Given the description of an element on the screen output the (x, y) to click on. 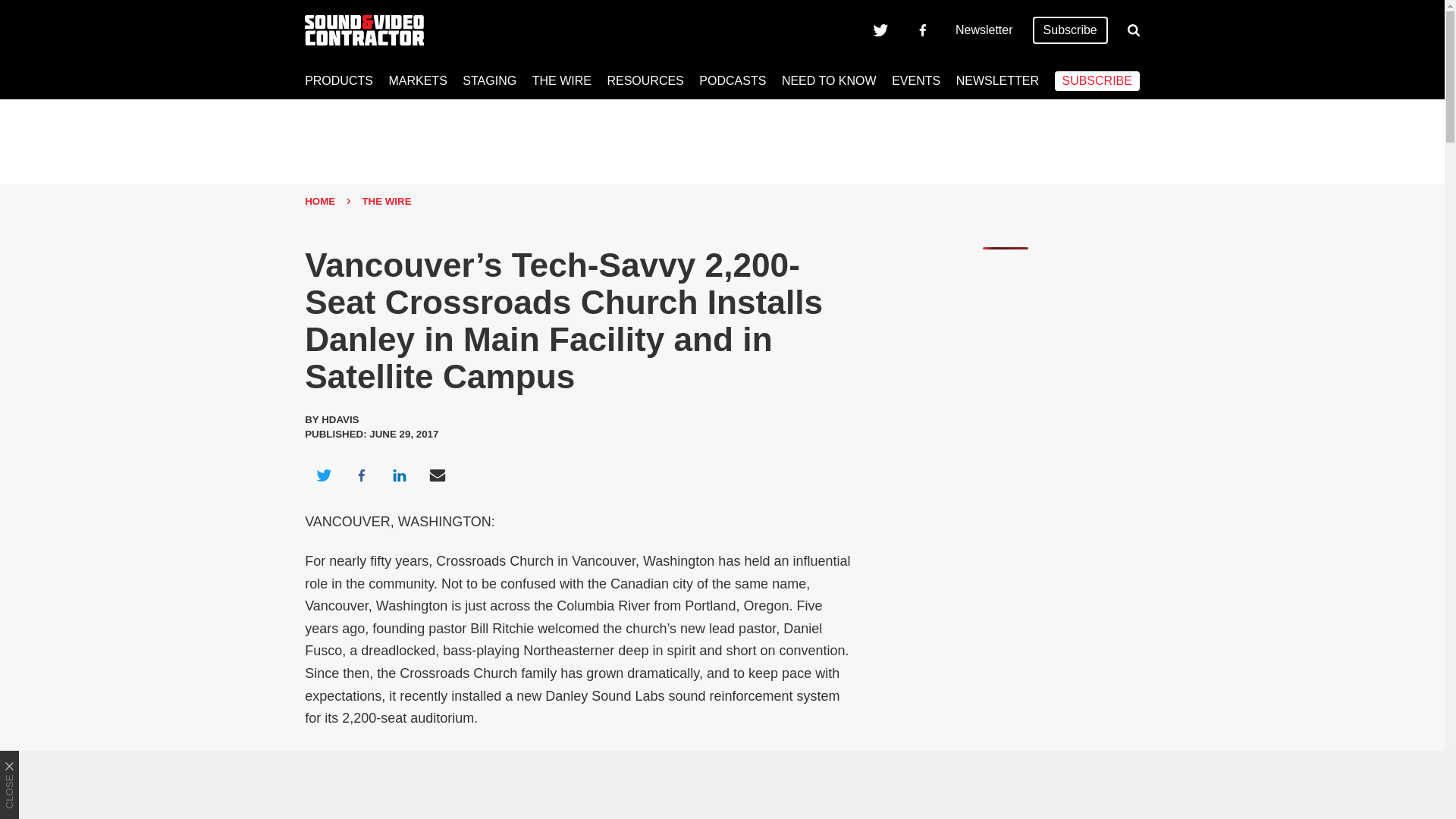
Share on Twitter (323, 475)
Share on LinkedIn (399, 475)
Share via Email (438, 475)
Share on Facebook (361, 475)
